Given the description of an element on the screen output the (x, y) to click on. 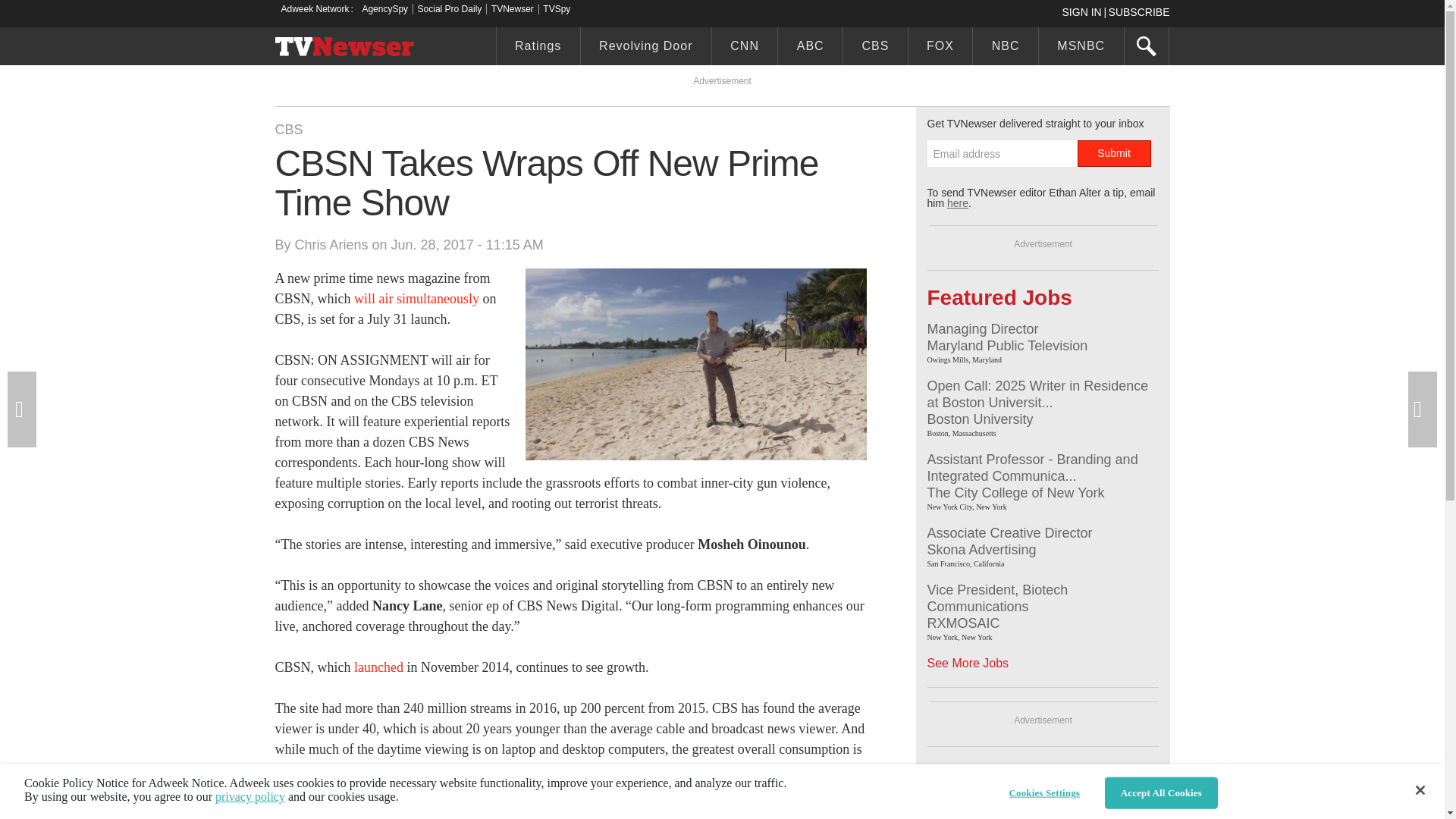
Ratings (537, 48)
FOX (940, 48)
Adweek Network (316, 9)
CNN (744, 48)
Revolving Door (645, 48)
NBC (1005, 48)
MSNBC (1081, 48)
Submit (1113, 153)
Covering national television news (344, 47)
AgencySpy (384, 9)
SIGN IN (1084, 11)
CBS (875, 48)
TVSpy (556, 9)
ABC (810, 48)
TVNewser (513, 9)
